Given the description of an element on the screen output the (x, y) to click on. 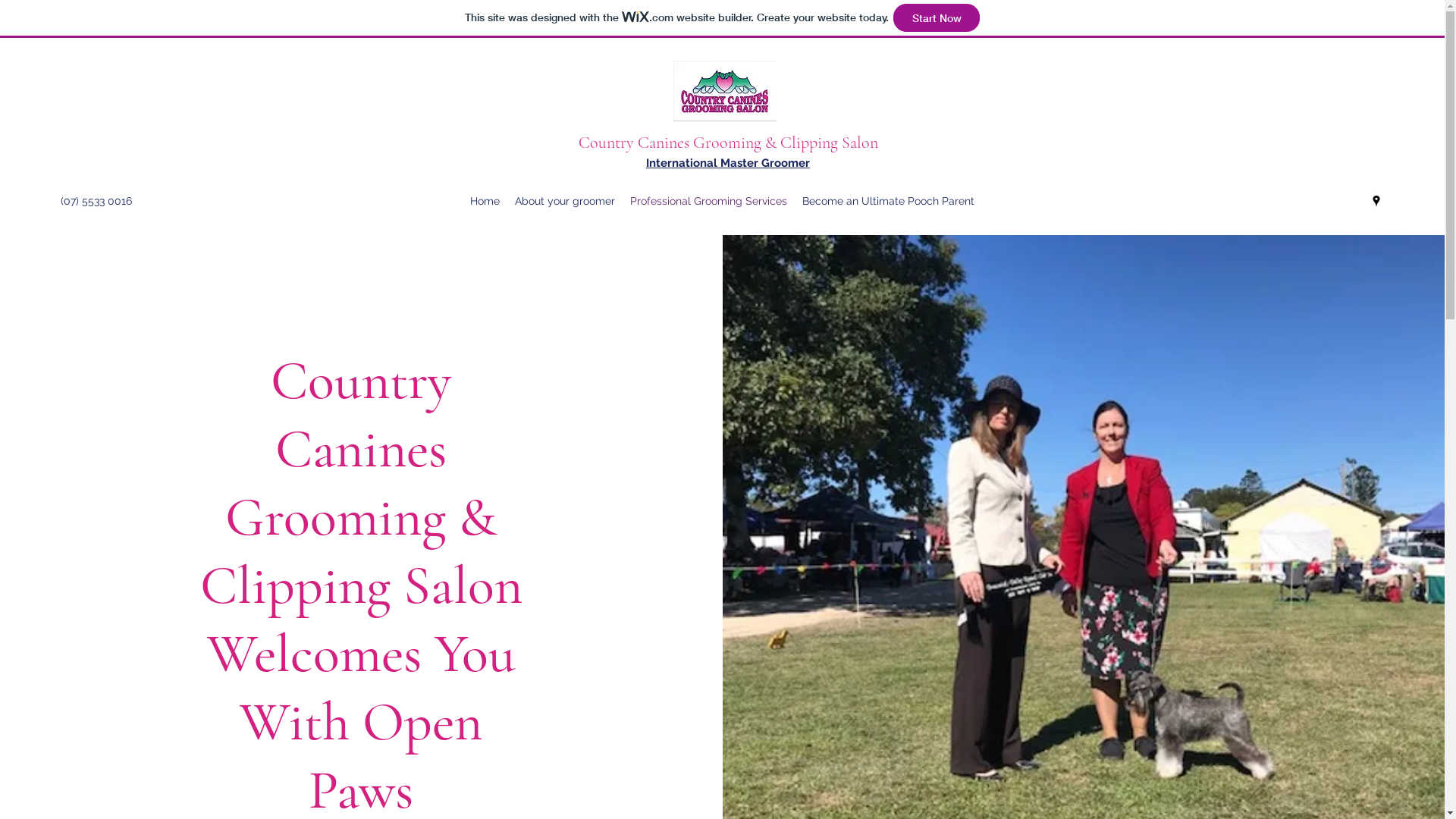
Country Canines Grooming & Clipping Salon Element type: text (728, 142)
Become an Ultimate Pooch Parent Element type: text (888, 200)
About your groomer Element type: text (564, 200)
Home Element type: text (484, 200)
Professional Grooming Services Element type: text (708, 200)
